Given the description of an element on the screen output the (x, y) to click on. 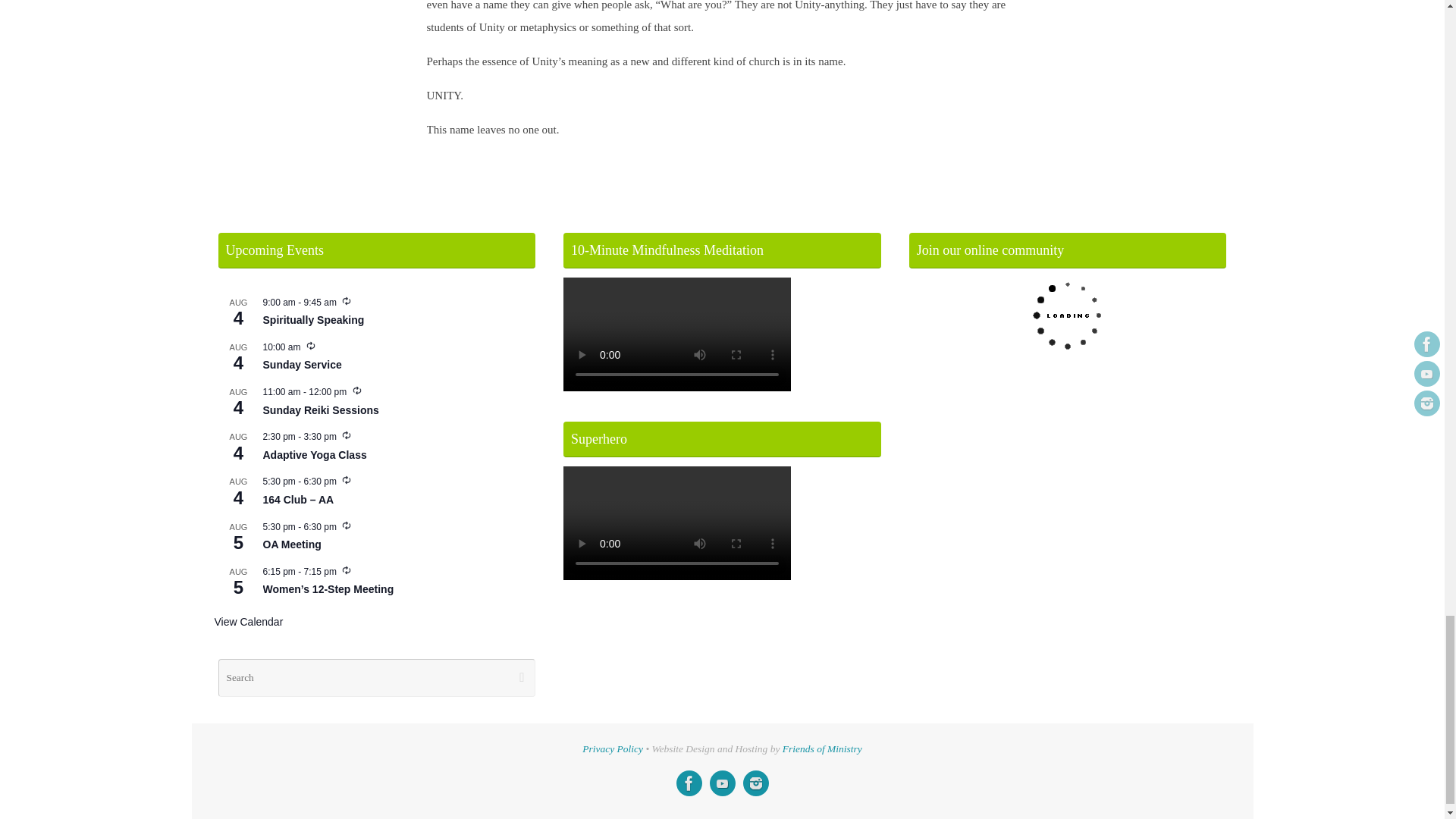
Sunday Service (301, 364)
Spiritually Speaking (313, 319)
Sunday Service (301, 364)
Spiritually Speaking (313, 319)
Sunday Reiki Sessions (320, 410)
